Given the description of an element on the screen output the (x, y) to click on. 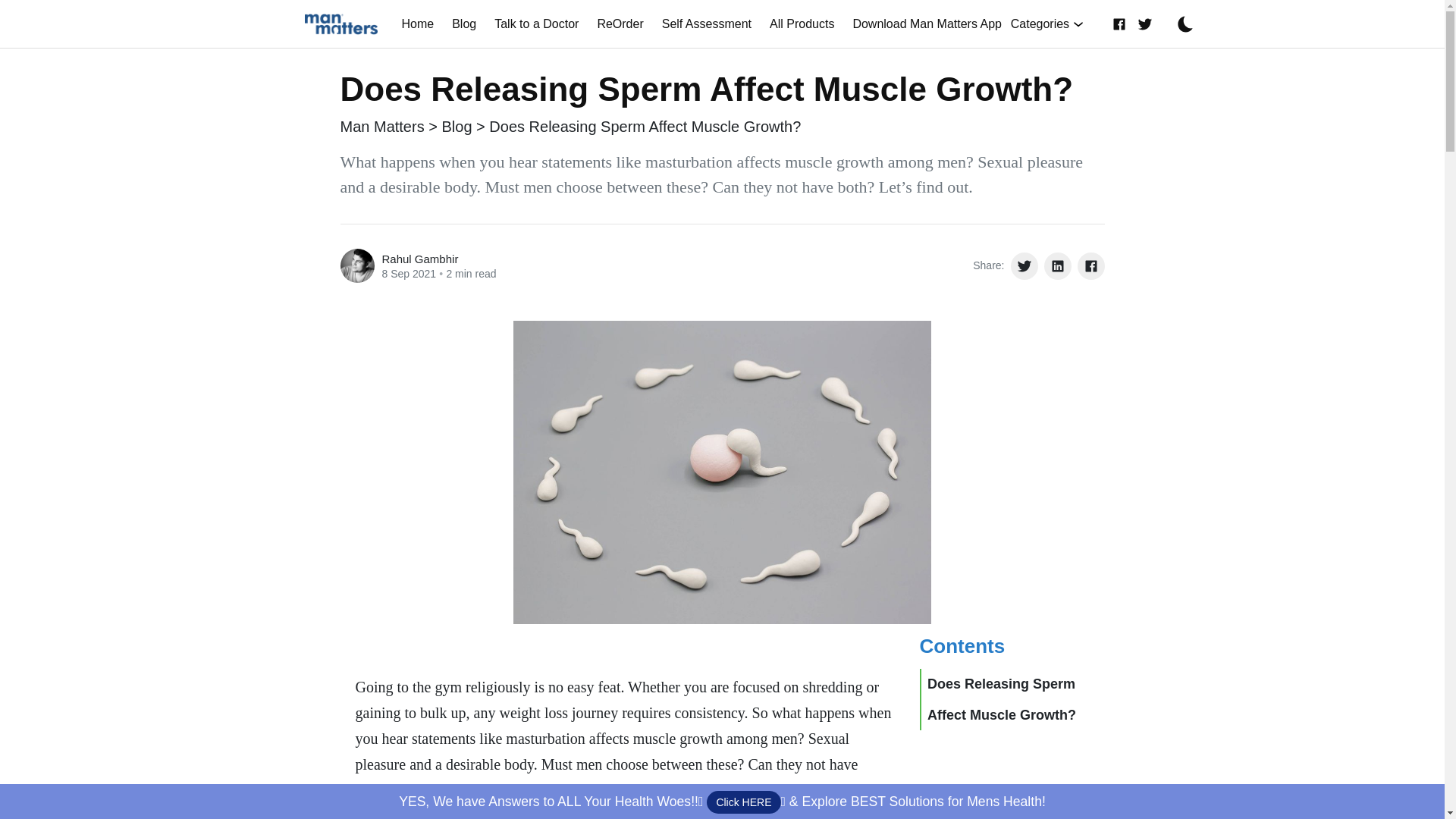
Categories (1047, 22)
Download Man Matters App (926, 22)
Blog (463, 22)
ReOrder (620, 22)
Talk to a Doctor (536, 22)
Self Assessment (706, 22)
Home (418, 22)
All Products (801, 22)
